Given the description of an element on the screen output the (x, y) to click on. 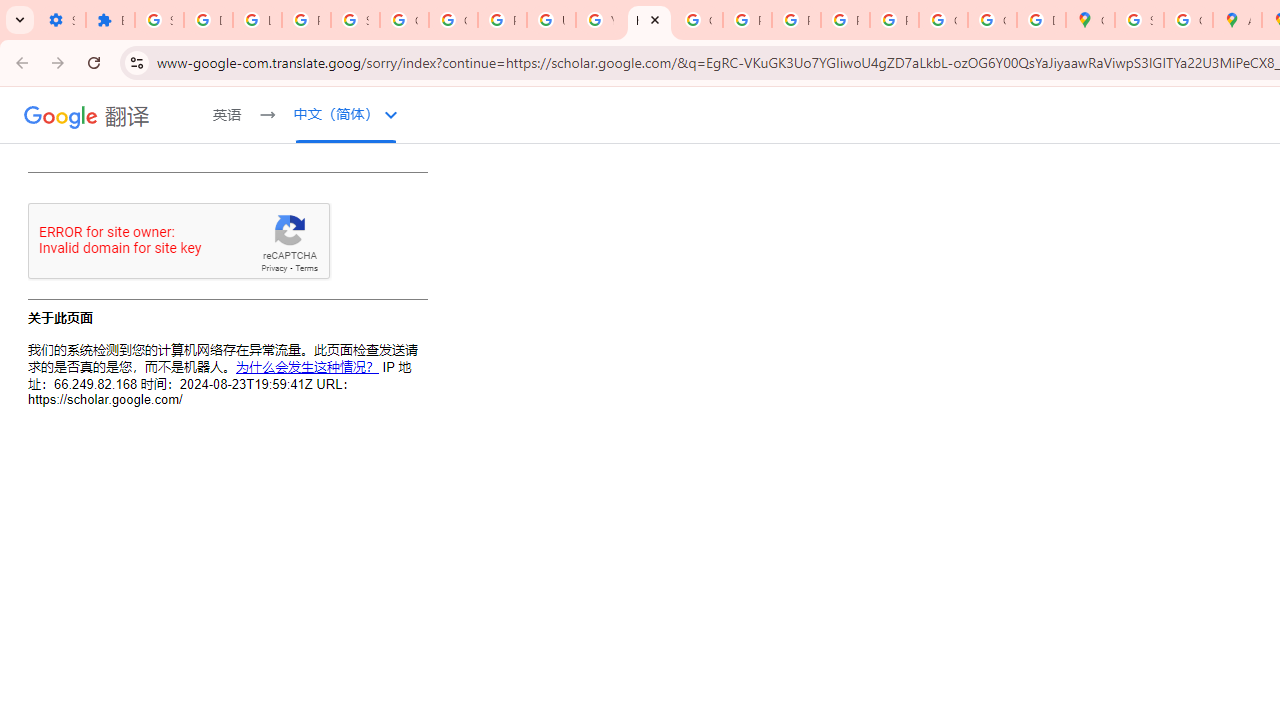
Sign in - Google Accounts (1138, 20)
Sign in - Google Accounts (355, 20)
Privacy (274, 267)
Learn how to find your photos - Google Photos Help (257, 20)
Google Account Help (404, 20)
Google Maps (1090, 20)
YouTube (600, 20)
Delete photos & videos - Computer - Google Photos Help (208, 20)
Create your Google Account (1188, 20)
